Given the description of an element on the screen output the (x, y) to click on. 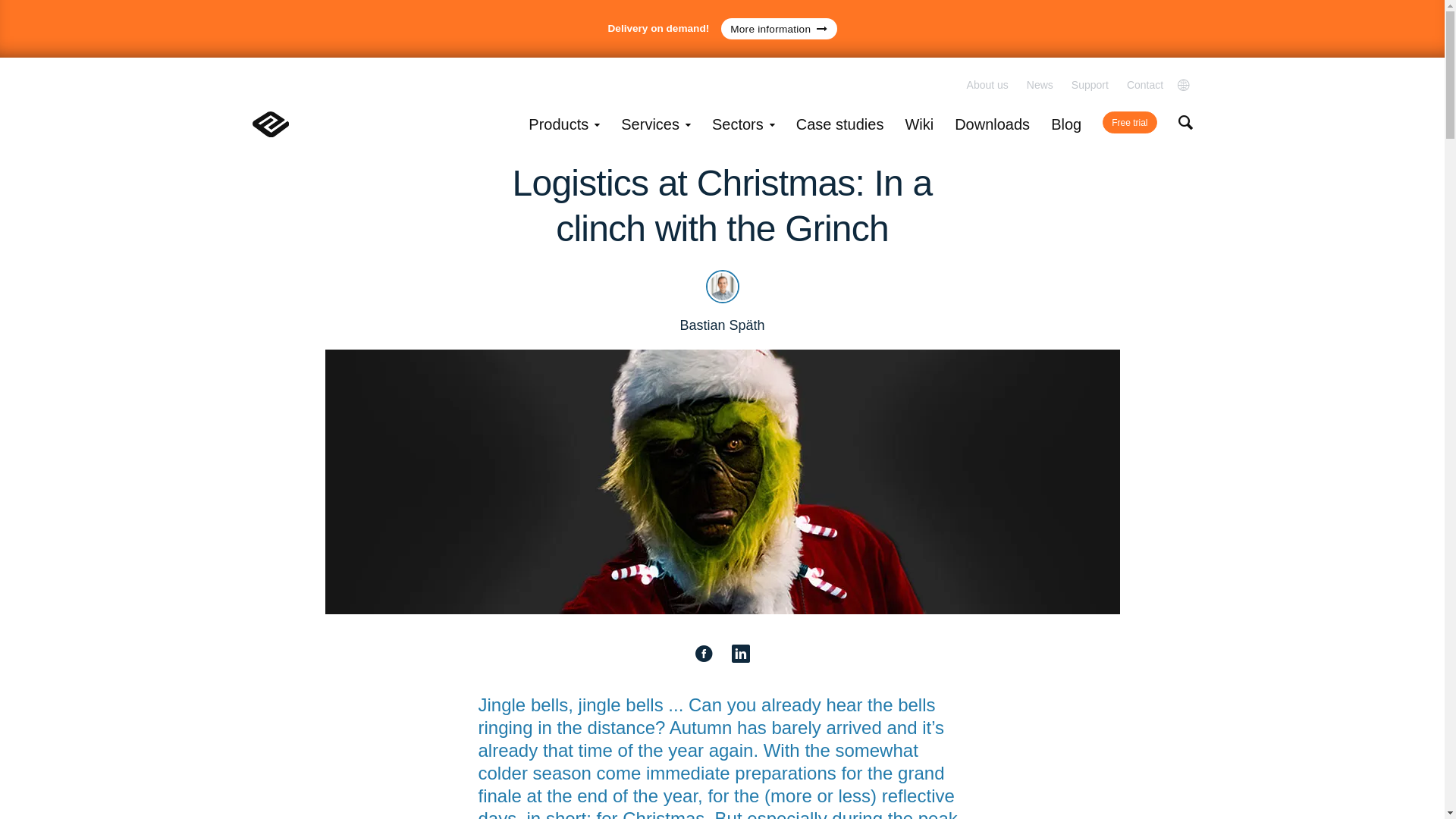
More information (778, 29)
Contact (1144, 84)
Support (1089, 84)
About us (987, 84)
Products (563, 128)
More information (778, 29)
Services (655, 128)
News (1039, 84)
Products (563, 128)
